Given the description of an element on the screen output the (x, y) to click on. 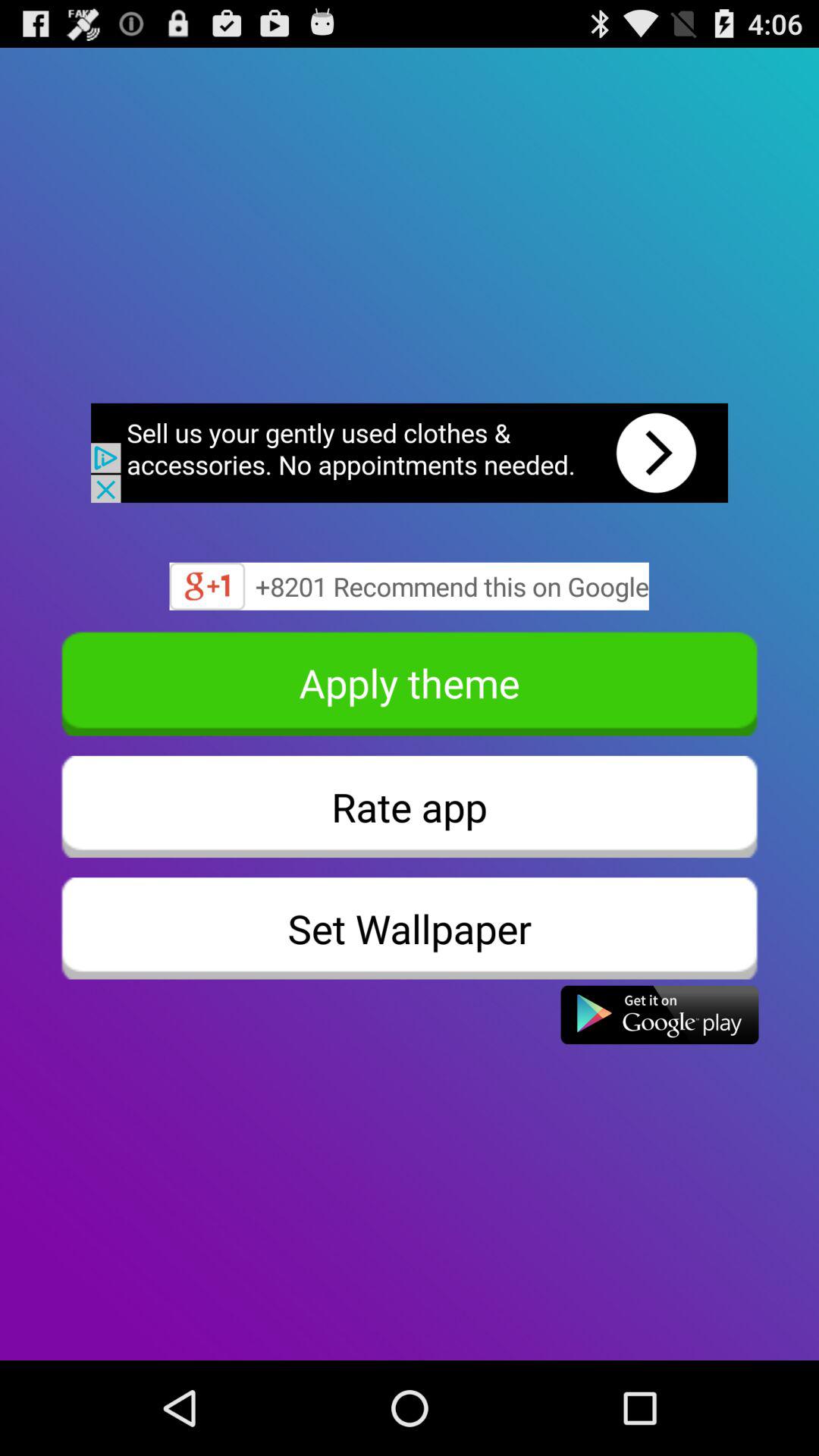
advertising (409, 452)
